Given the description of an element on the screen output the (x, y) to click on. 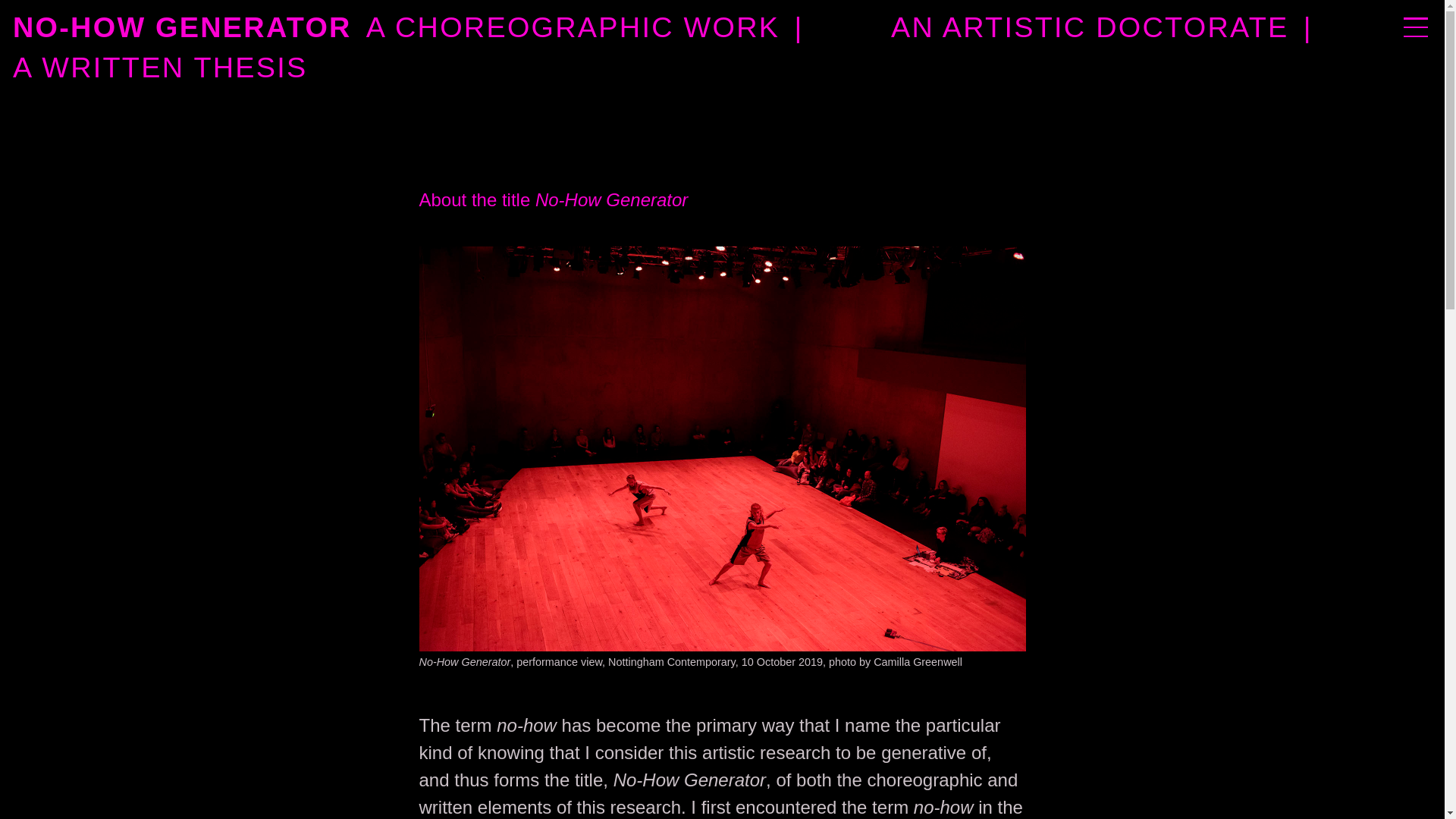
A WRITTEN THESIS (699, 67)
A CHOREOGRAPHIC WORK (572, 27)
AN ARTISTIC DOCTORATE (1089, 27)
